Given the description of an element on the screen output the (x, y) to click on. 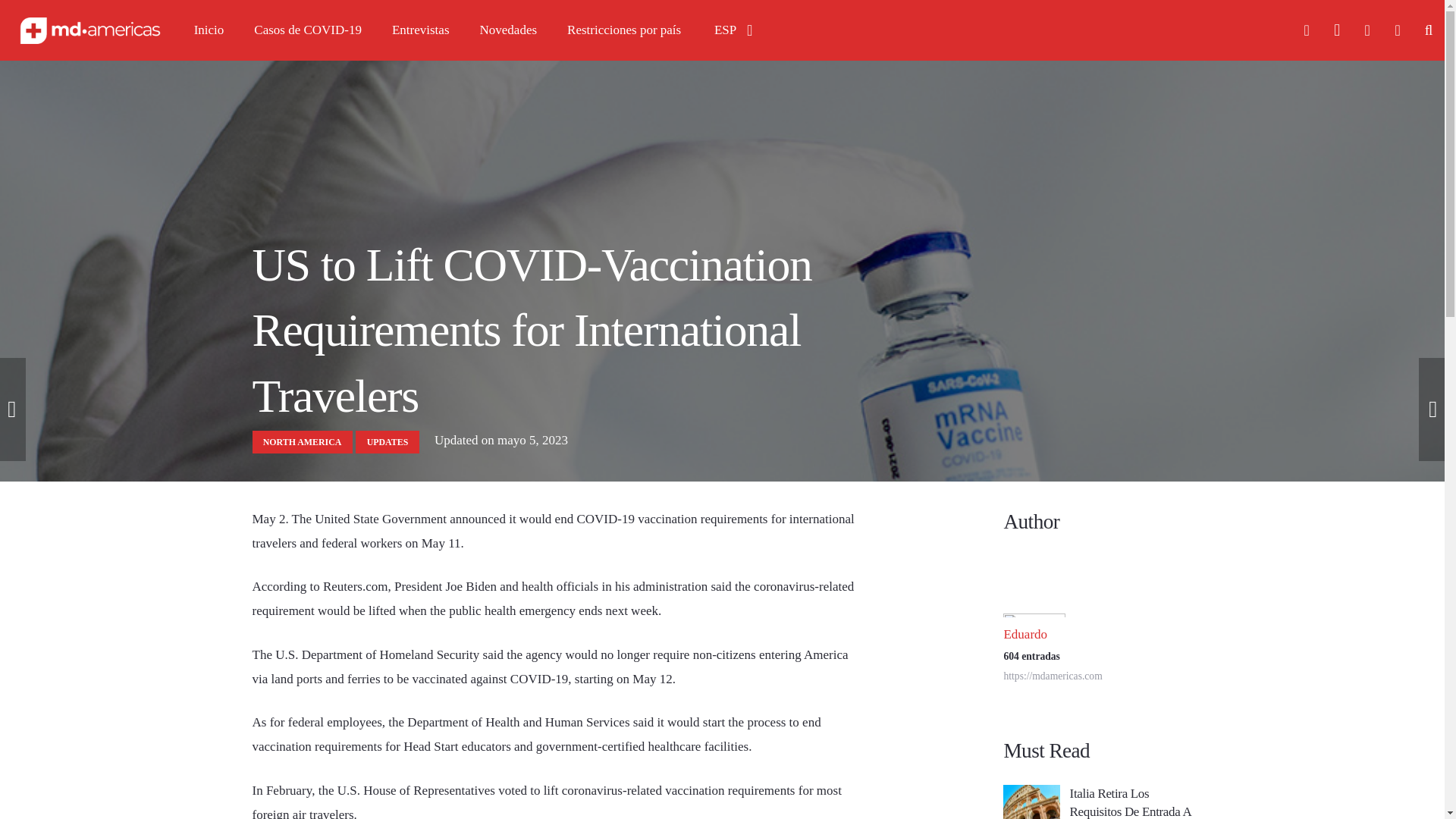
NORTH AMERICA (301, 442)
5 mayo 2023 a las 19:28:24 -05:00 (500, 440)
Novedades (508, 30)
Entrevistas (420, 30)
Twitter (1366, 30)
Facebook (1306, 30)
Casos de COVID-19 (307, 30)
YouTube (1396, 30)
Instagram (1337, 30)
Inicio (209, 30)
ESP (733, 30)
UPDATES (387, 442)
